Given the description of an element on the screen output the (x, y) to click on. 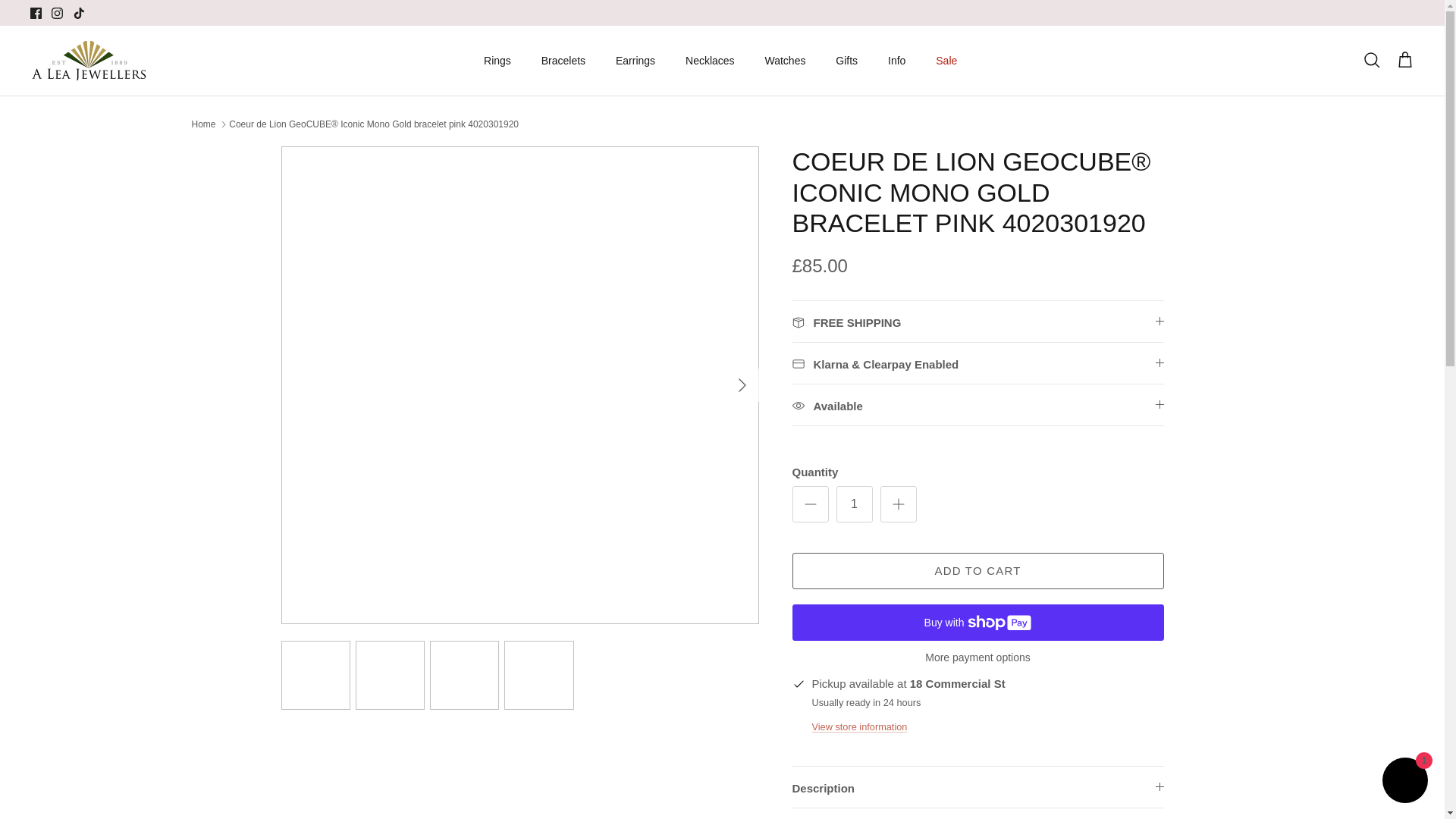
Facebook (36, 12)
Watches (784, 60)
1 (853, 504)
Sale (946, 60)
Instagram (56, 12)
Cart (1404, 60)
Info (896, 60)
Facebook (36, 12)
Alea Jewellers (89, 60)
Bracelets (562, 60)
Earrings (635, 60)
Minus (809, 504)
Shopify online store chat (1404, 781)
Necklaces (709, 60)
RIGHT (741, 385)
